Given the description of an element on the screen output the (x, y) to click on. 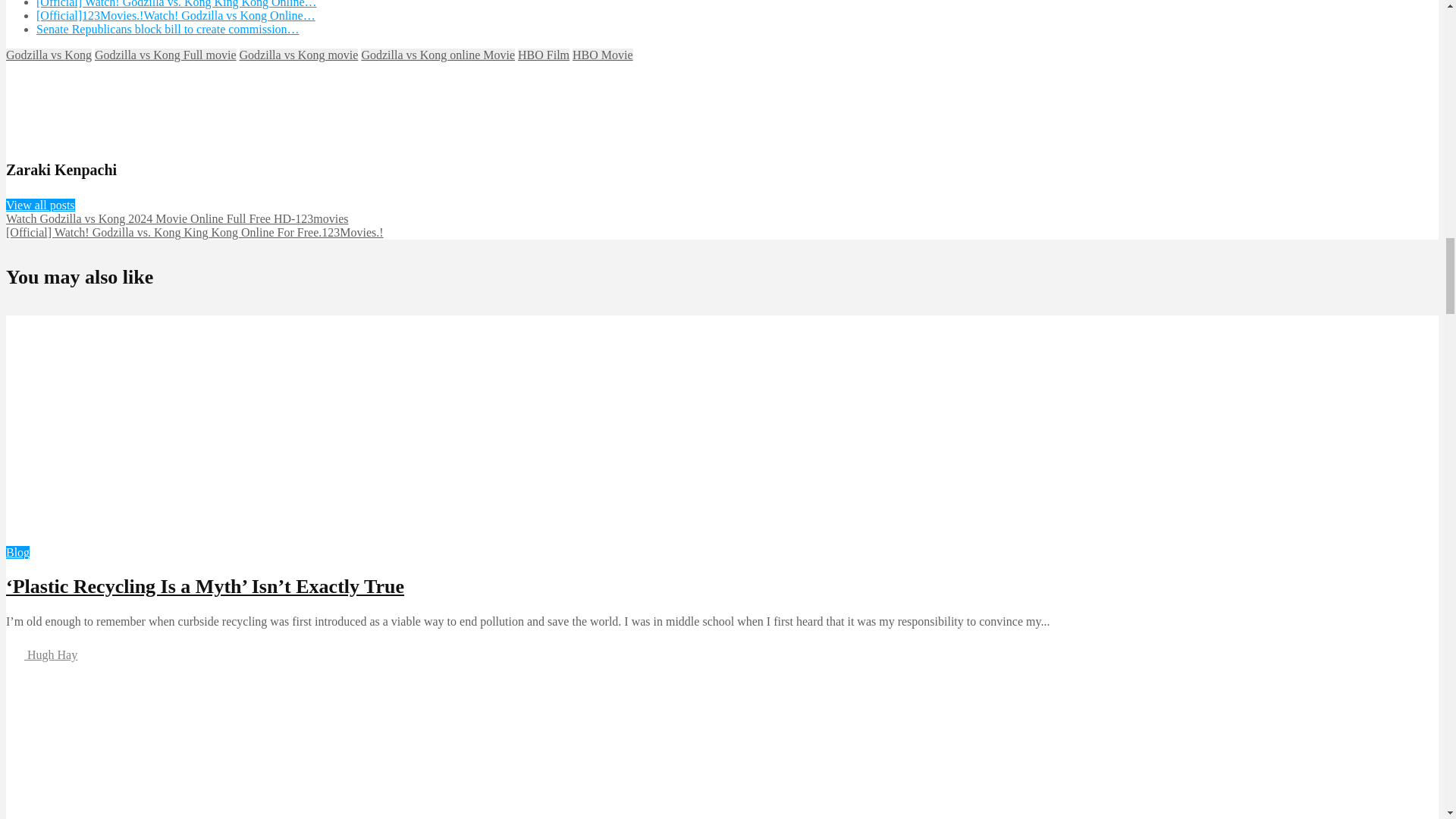
Godzilla vs Kong Full movie (164, 54)
Godzilla vs Kong movie (299, 54)
HBO Film (543, 54)
View all posts (40, 205)
HBO Movie (602, 54)
Godzilla vs Kong (48, 54)
Godzilla vs Kong online Movie (438, 54)
